Given the description of an element on the screen output the (x, y) to click on. 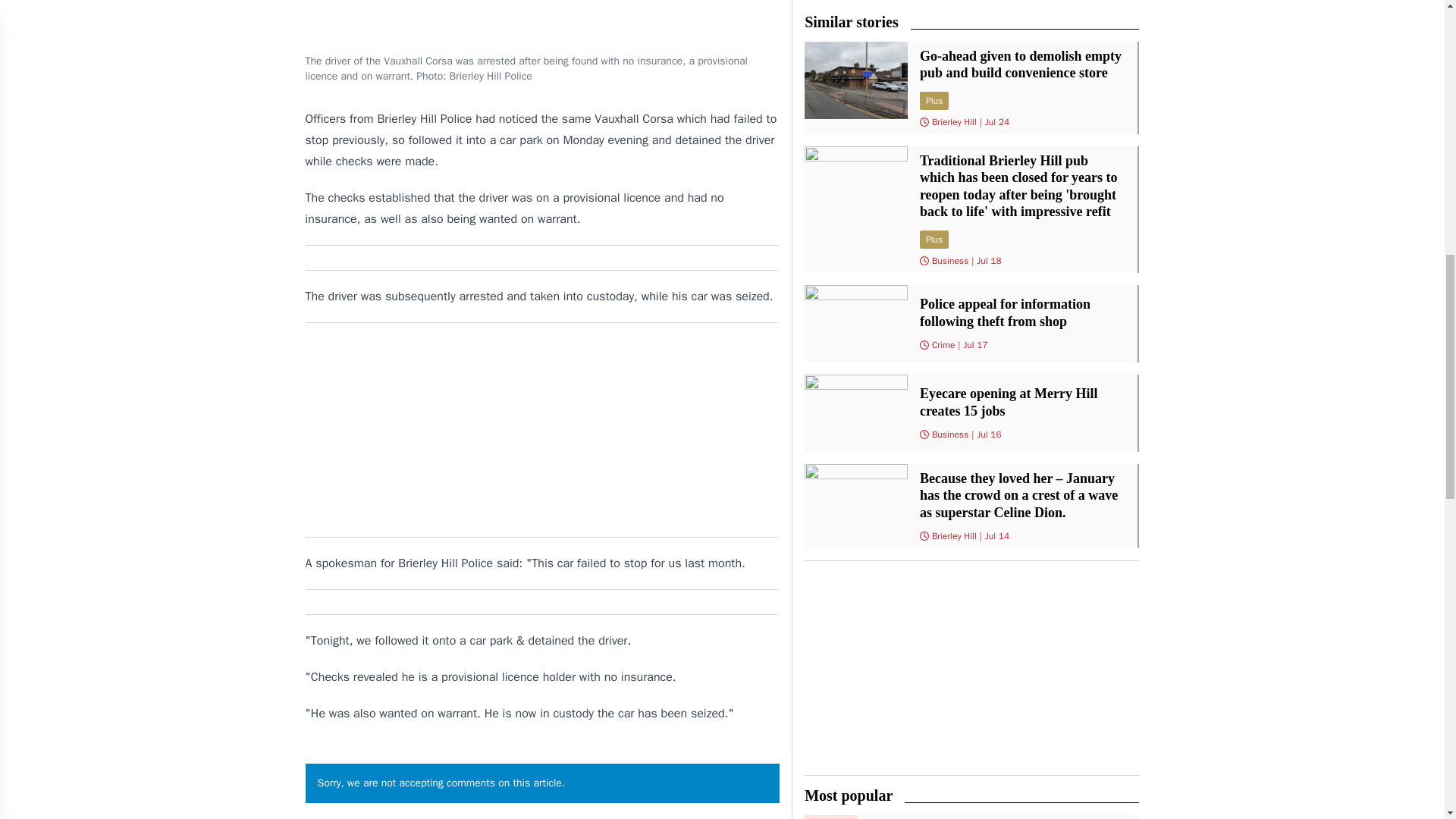
Business (949, 260)
Brierley Hill (953, 535)
Business (949, 434)
Crime (943, 345)
Brierley Hill (953, 121)
